Given the description of an element on the screen output the (x, y) to click on. 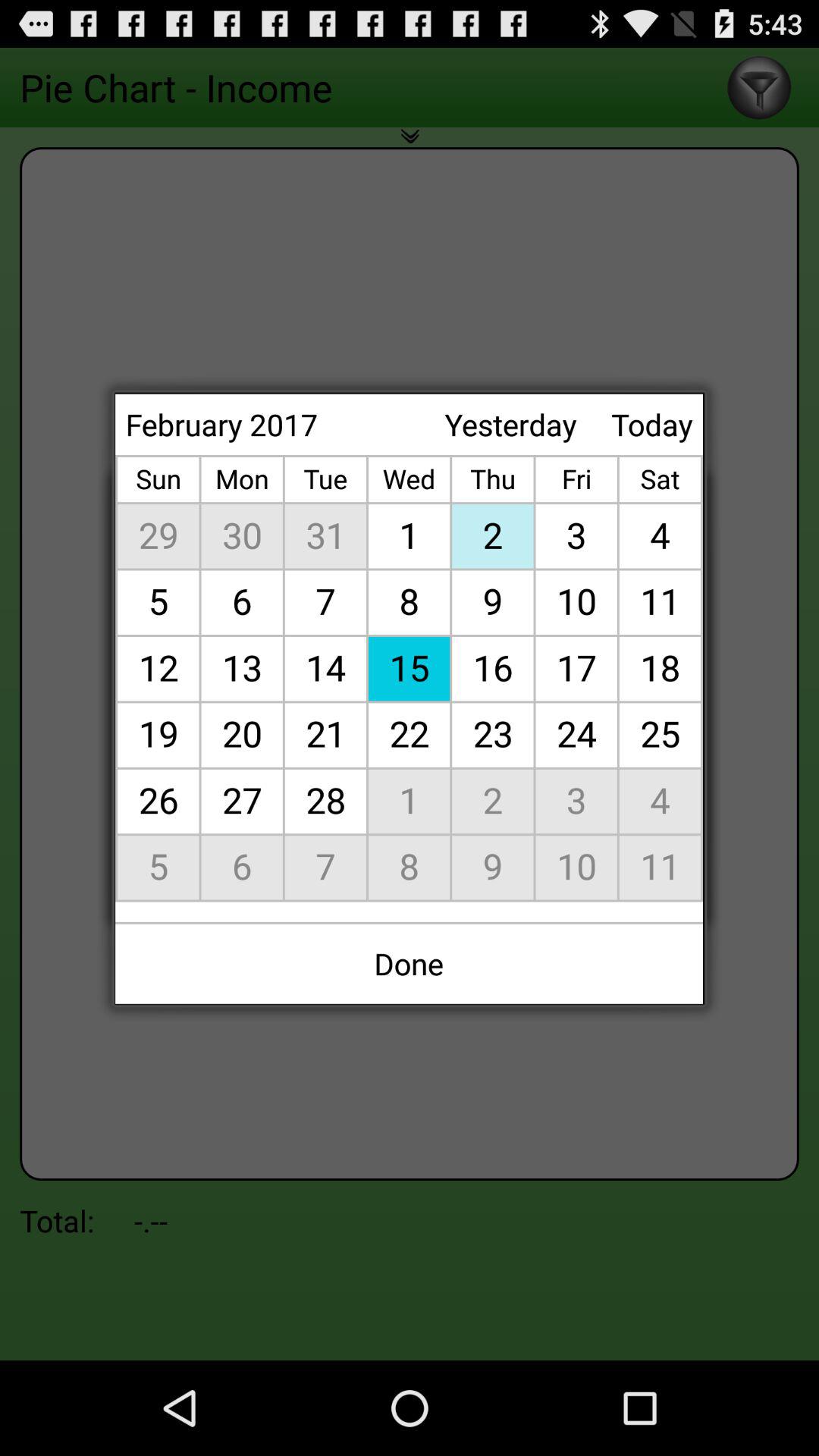
select the icon to the right of yesterday app (651, 424)
